Given the description of an element on the screen output the (x, y) to click on. 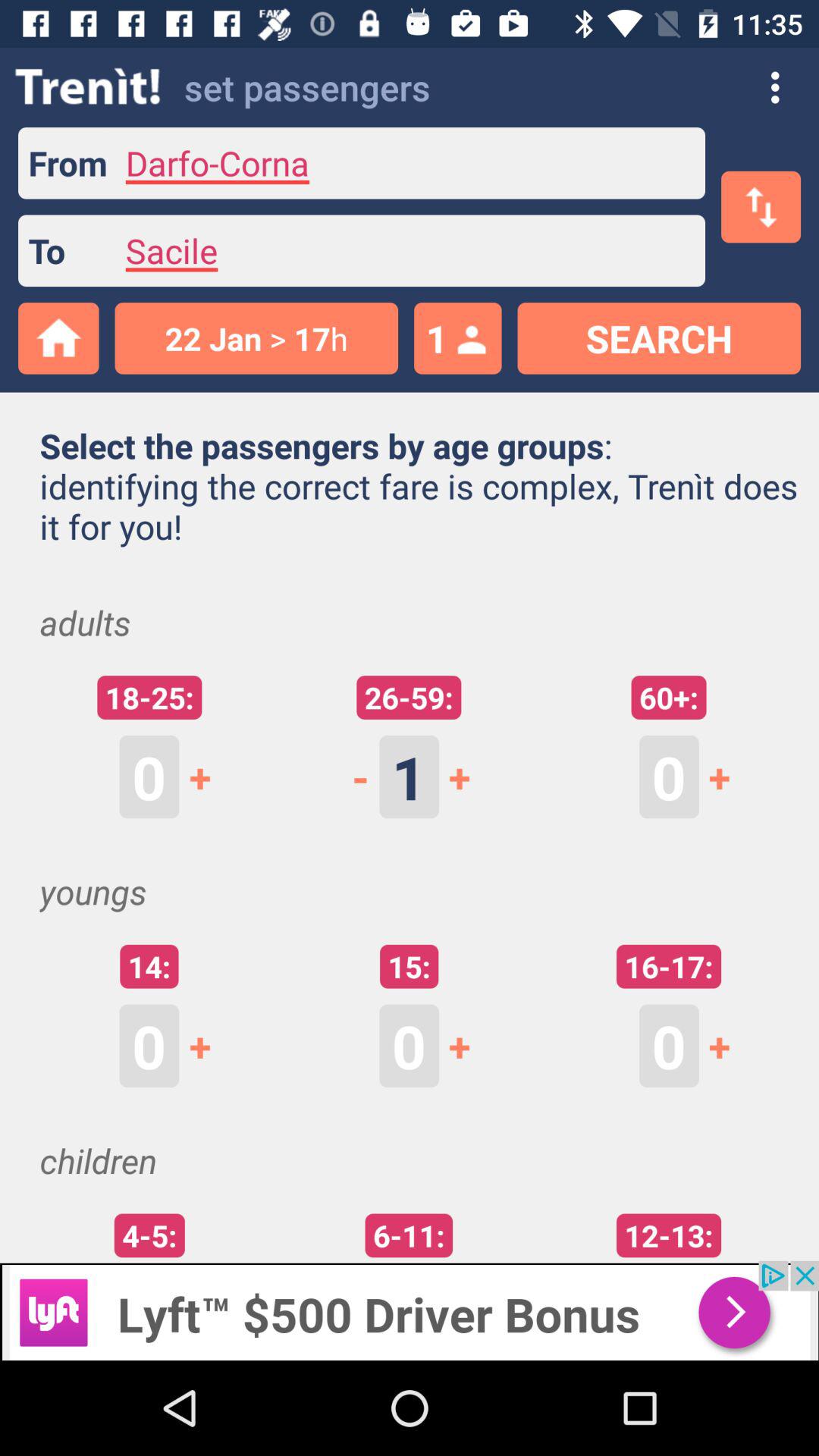
search (658, 338)
go to from field (406, 162)
select the to text field (406, 250)
select the add icon next to the number 1 (468, 776)
click on the profile icon next to the number 1 (468, 342)
the second   symbol at the right side of the page (728, 1045)
